Given the description of an element on the screen output the (x, y) to click on. 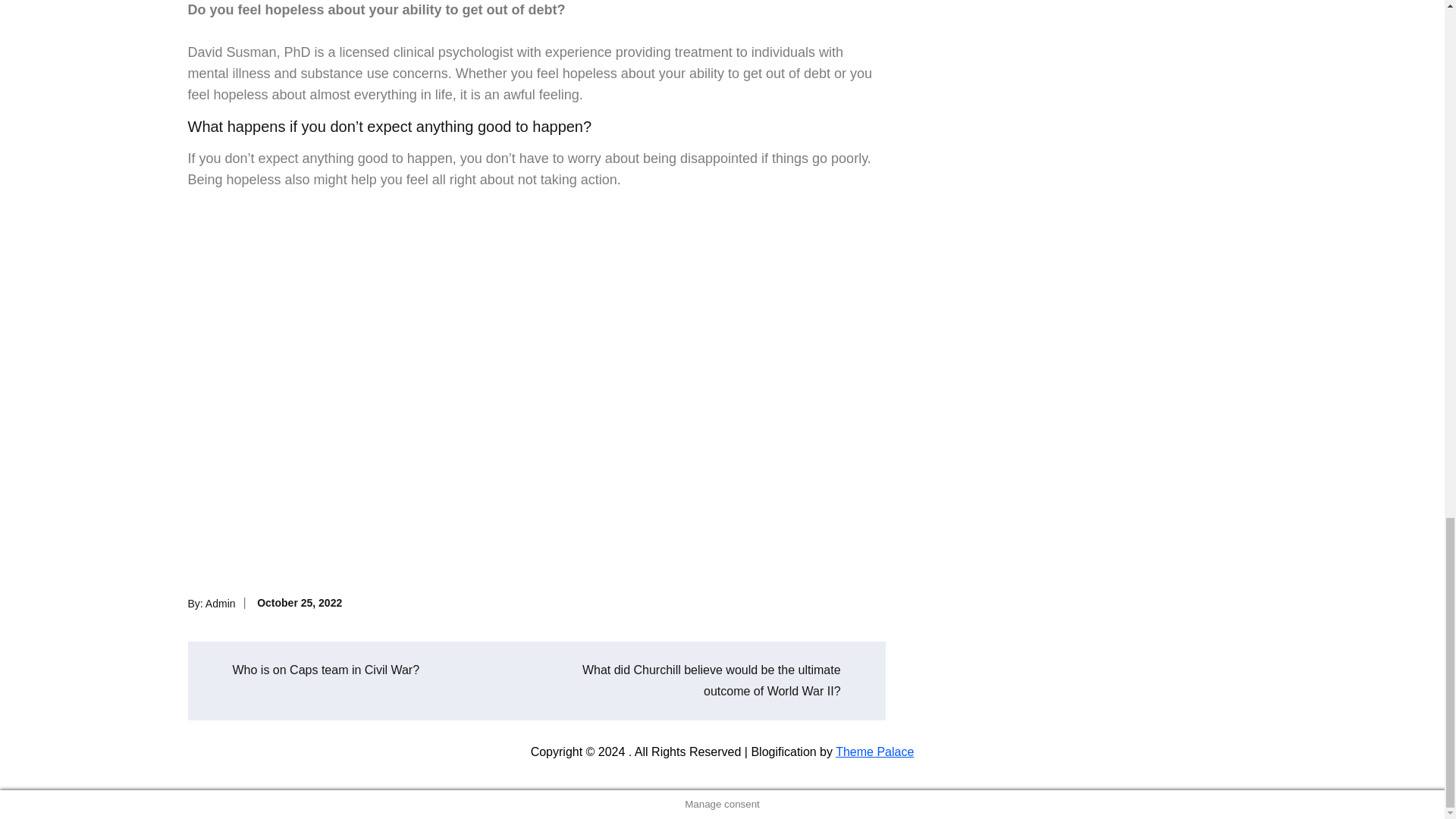
October 25, 2022 (299, 603)
Admin (220, 603)
